Given the description of an element on the screen output the (x, y) to click on. 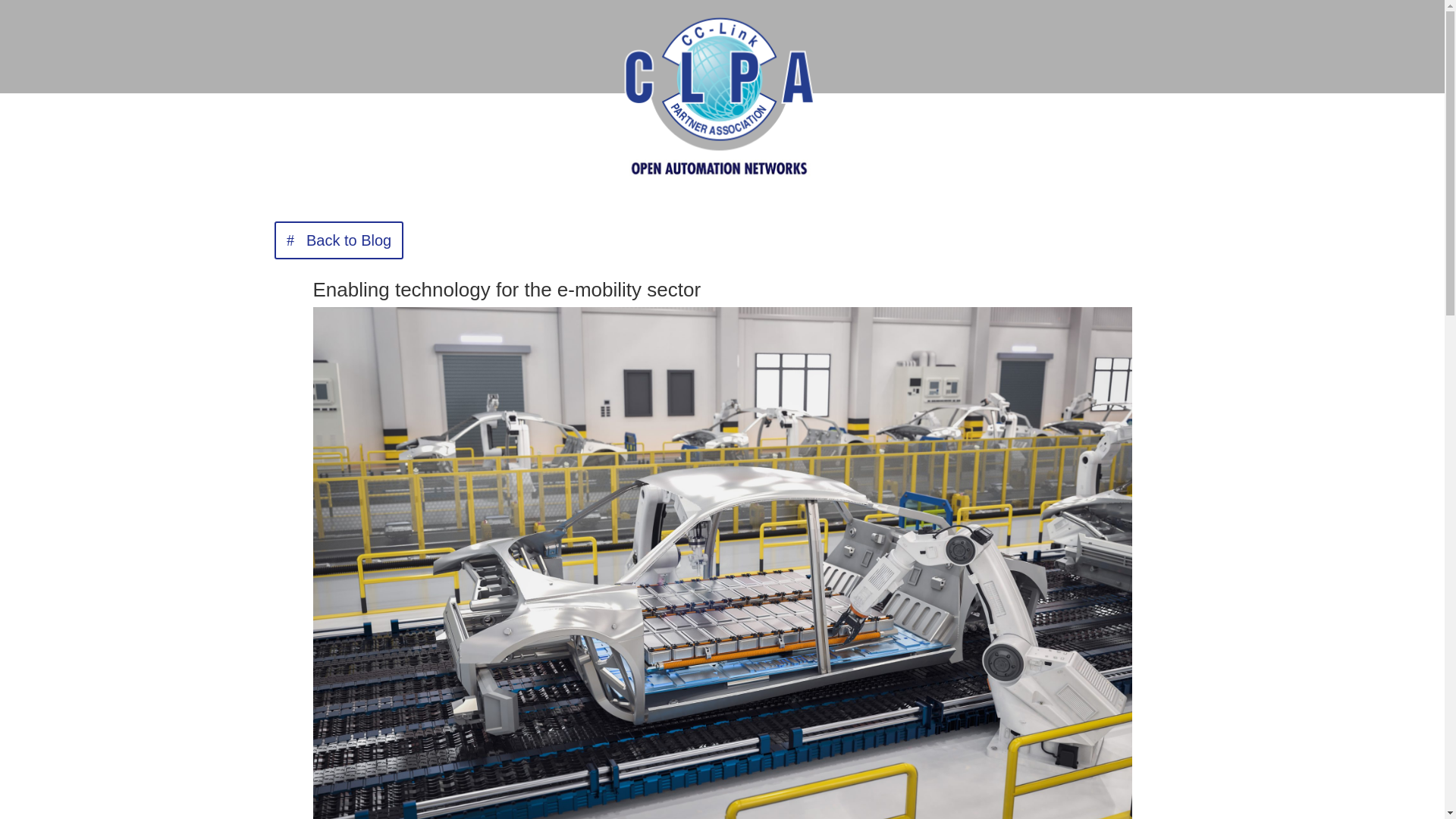
Back to Blog (339, 240)
